Given the description of an element on the screen output the (x, y) to click on. 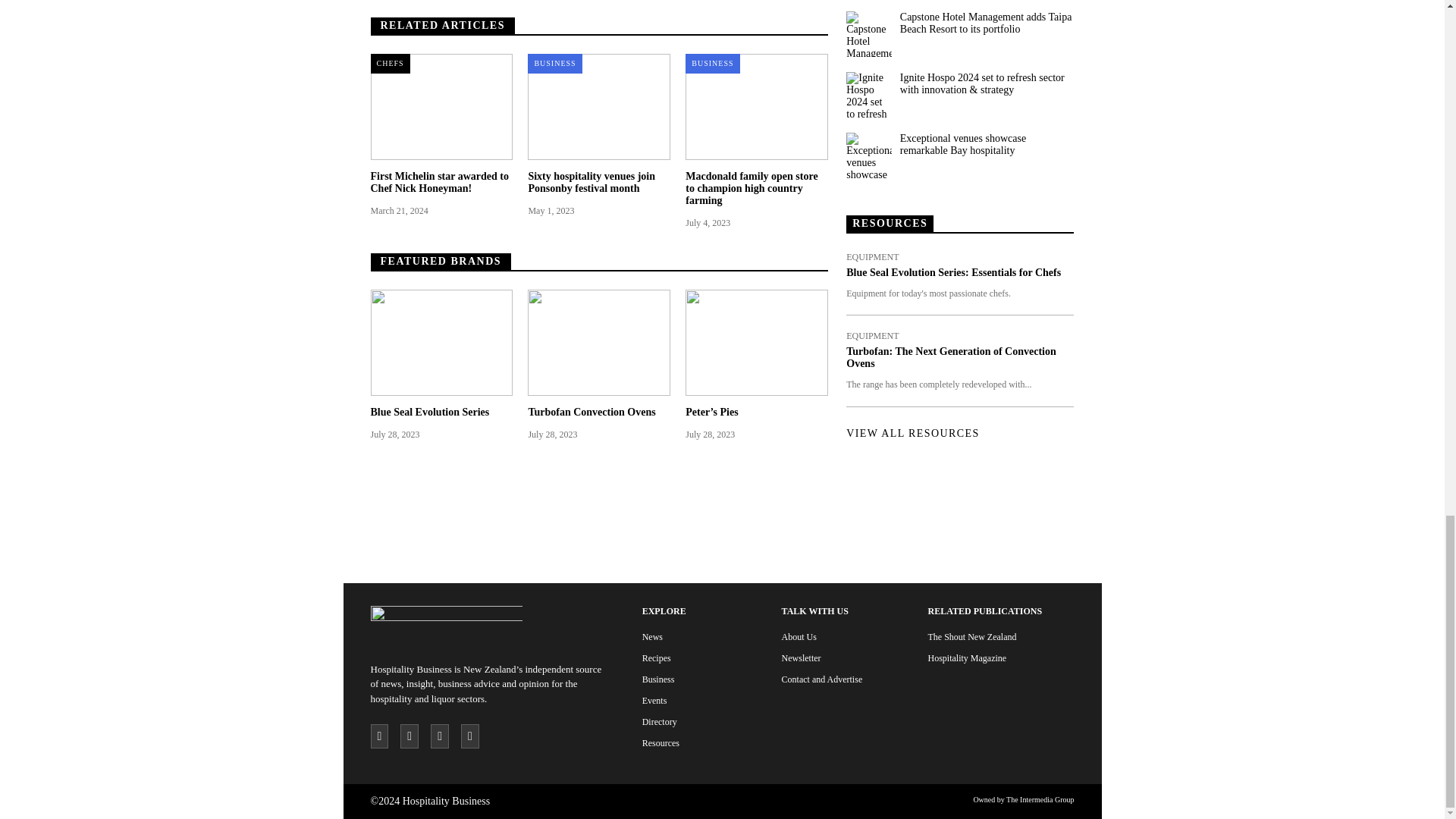
Exceptional venues showcase remarkable Bay hospitality (868, 155)
Exceptional venues showcase remarkable Bay hospitality (986, 144)
